Given the description of an element on the screen output the (x, y) to click on. 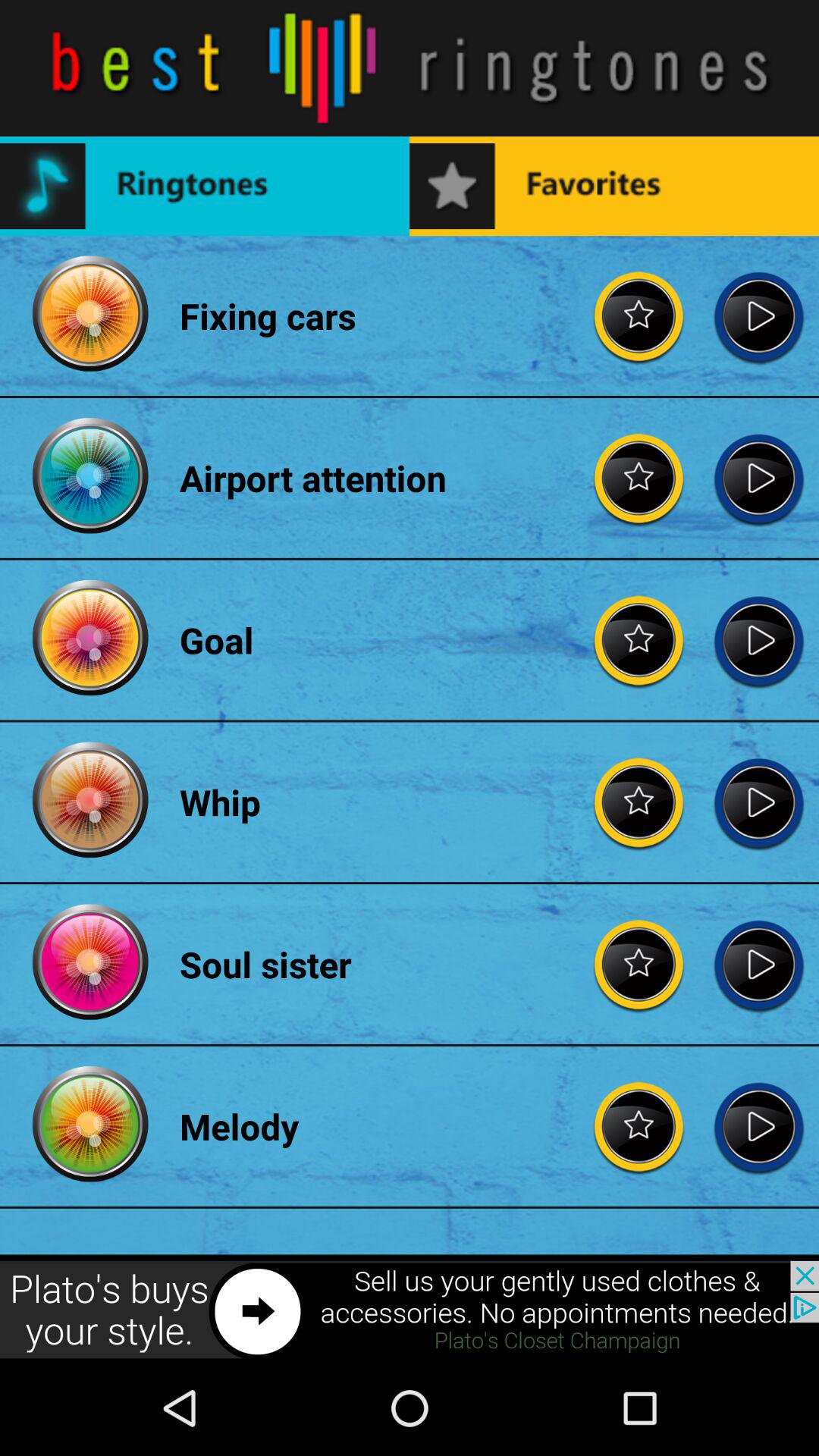
play the melody (758, 1126)
